Given the description of an element on the screen output the (x, y) to click on. 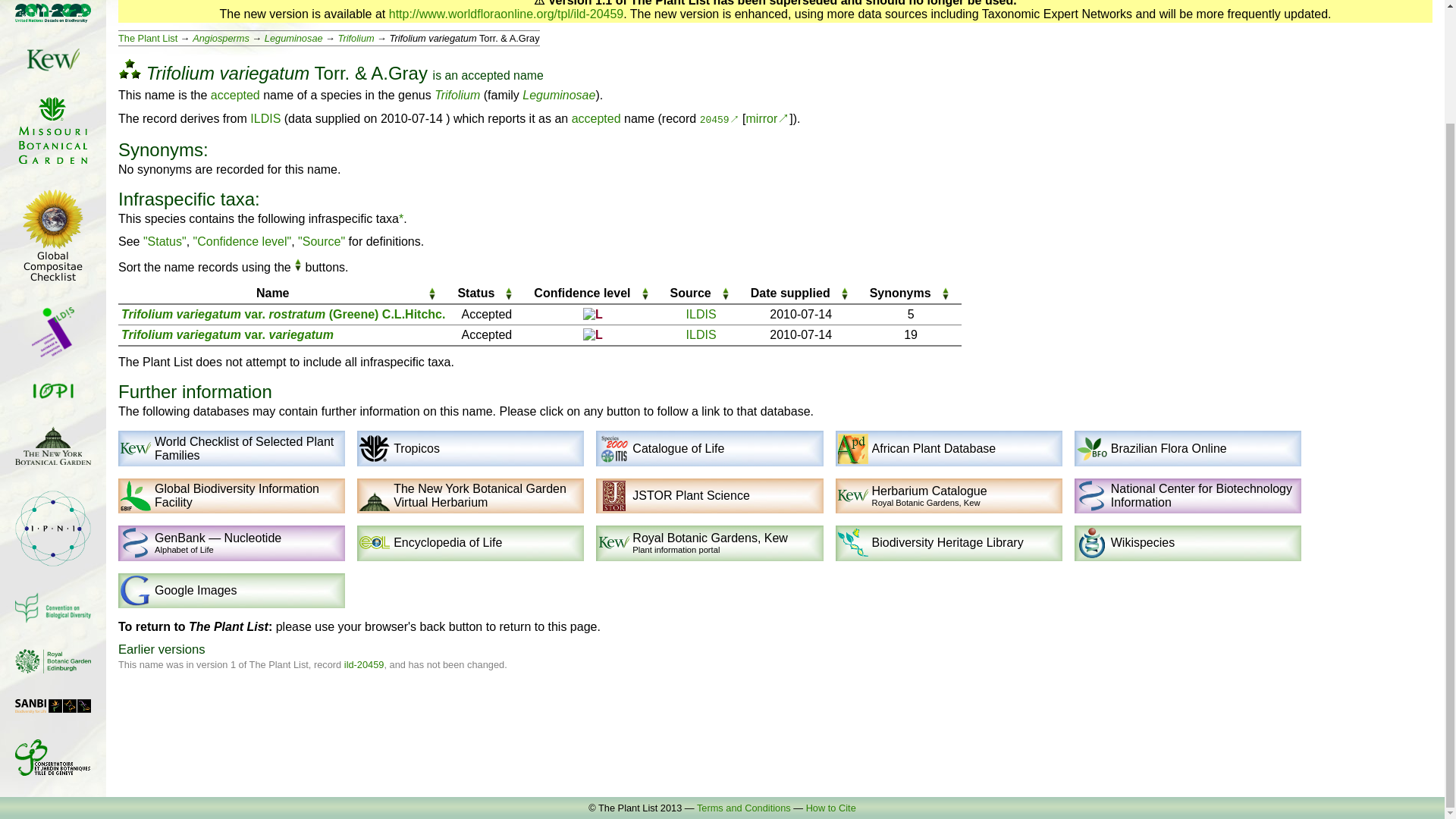
accepted (596, 118)
Trifolium (355, 38)
20459 (719, 120)
Trifolium (456, 94)
"Source" (321, 241)
Leguminosae (558, 94)
"Confidence level" (242, 241)
accepted (235, 94)
ILDIS (265, 118)
Trifolium variegatum var. variegatum (226, 334)
